Given the description of an element on the screen output the (x, y) to click on. 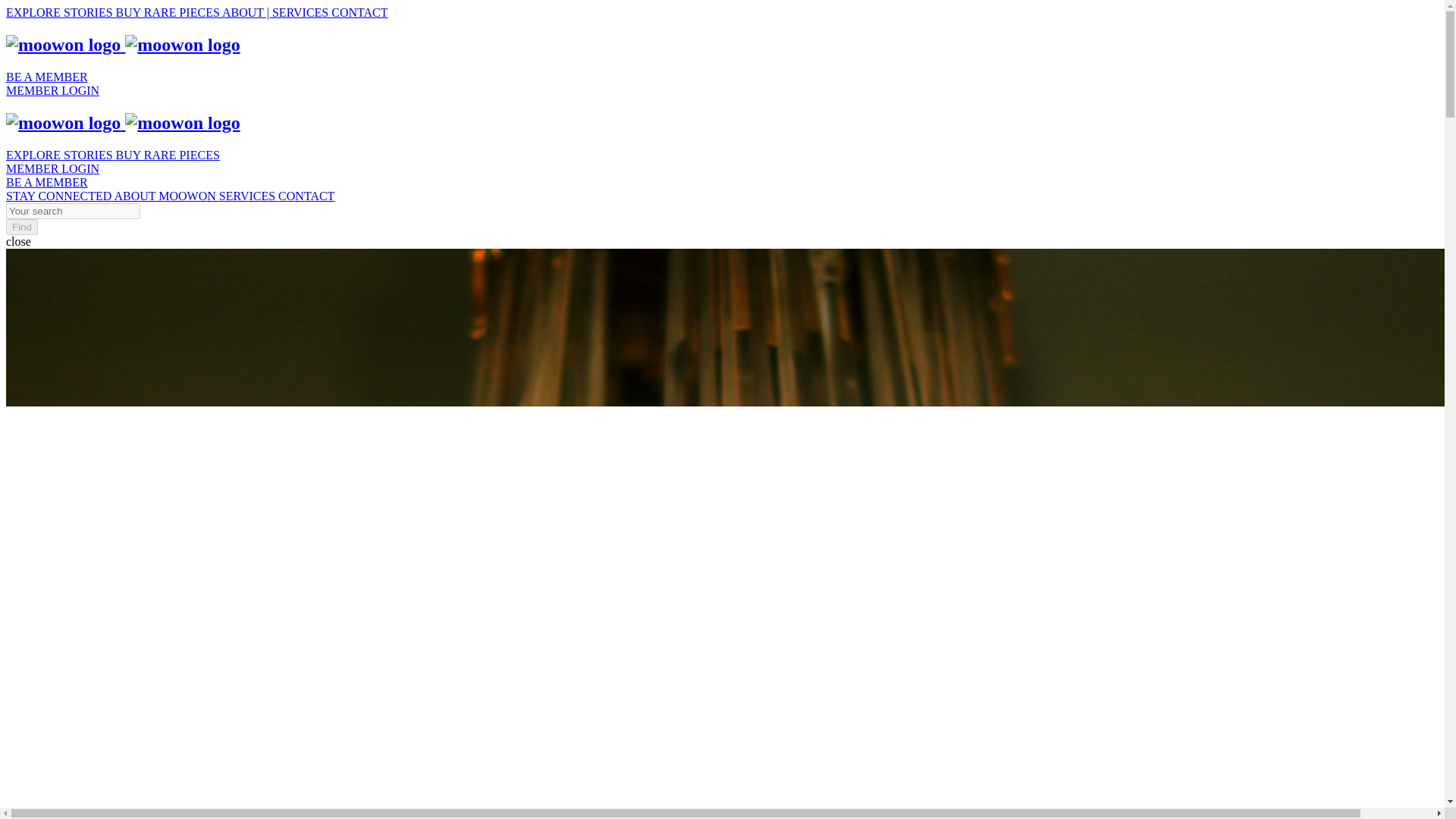
SERVICES (248, 195)
EXPLORE STORIES (60, 11)
ABOUT MOOWON (165, 195)
BUY RARE PIECES (169, 11)
BE A MEMBER (46, 76)
Find (21, 227)
CONTACT (359, 11)
STAY CONNECTED (59, 195)
EXPLORE STORIES (60, 154)
BE A MEMBER (46, 182)
CONTACT (306, 195)
BUY RARE PIECES (167, 154)
Find (21, 227)
MEMBER LOGIN (52, 90)
MEMBER LOGIN (52, 168)
